Given the description of an element on the screen output the (x, y) to click on. 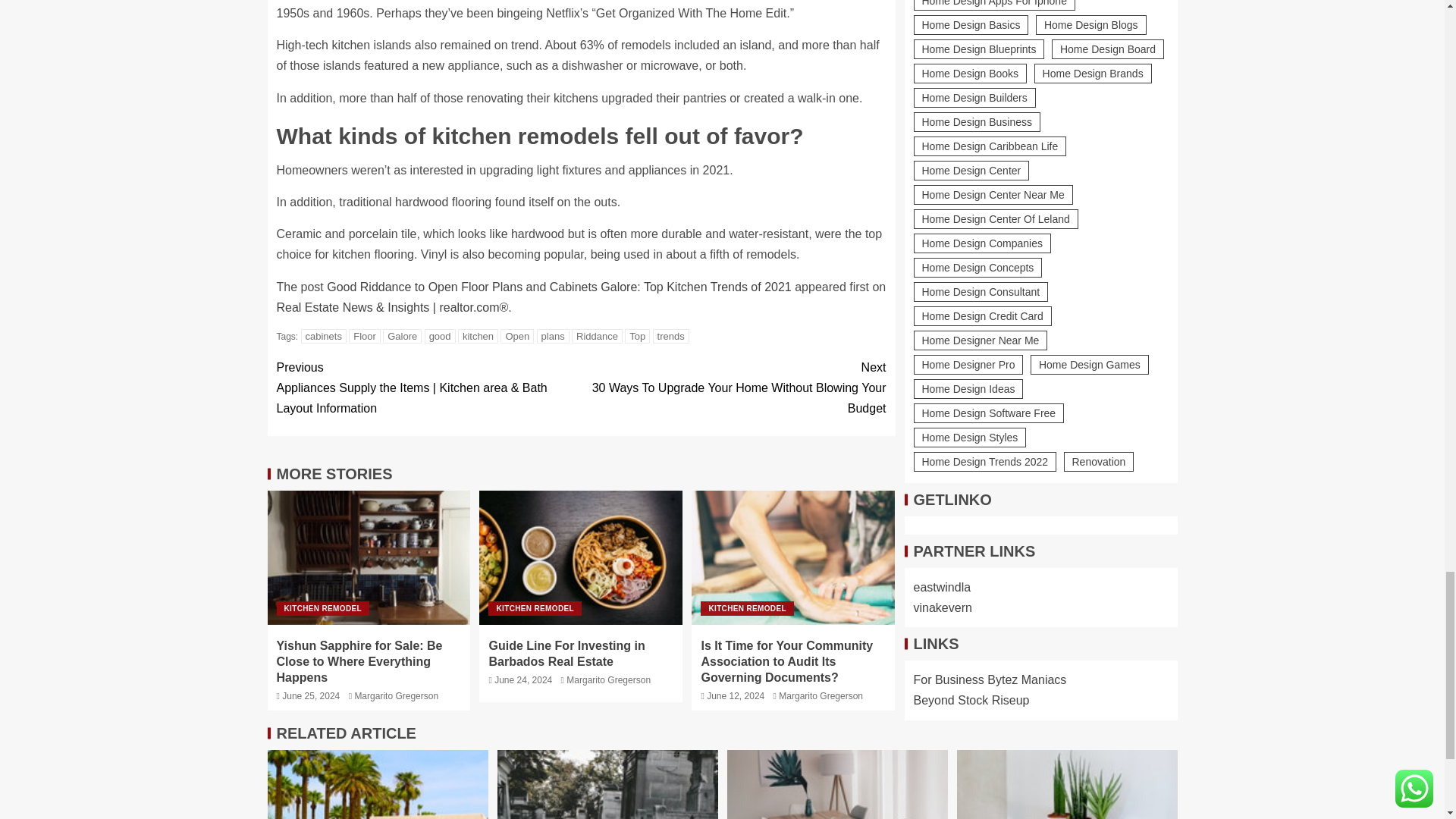
Guide Line For Investing in Barbados Real Estate (580, 556)
cabinets (323, 336)
good (440, 336)
kitchen (477, 336)
Floor (364, 336)
Is Computer Animation Even Worth the Try? (376, 784)
Riddance (597, 336)
plans (553, 336)
Top (636, 336)
Open (517, 336)
Galore (402, 336)
